Given the description of an element on the screen output the (x, y) to click on. 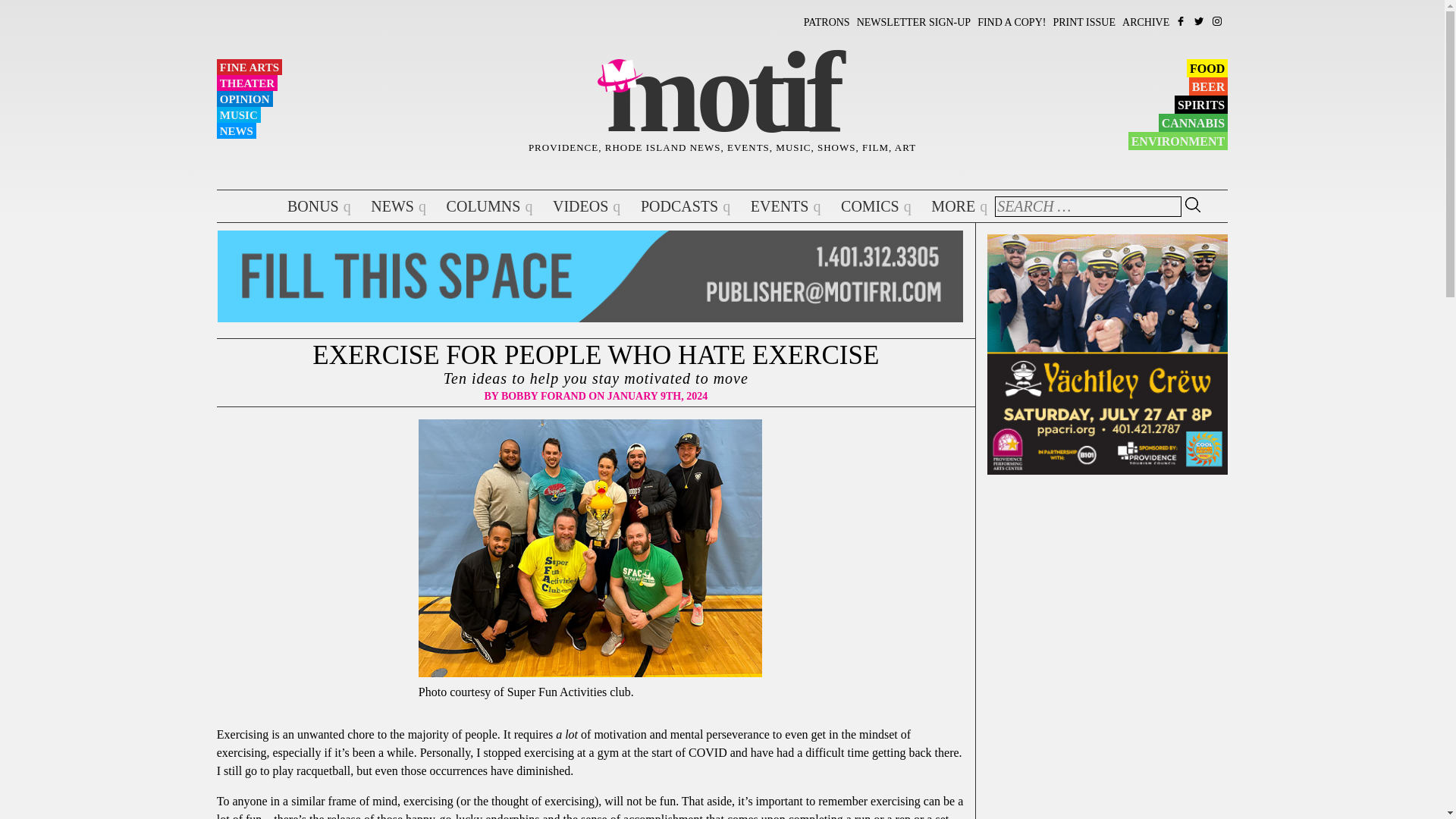
FINE ARTS (249, 66)
ENVIRONMENT (1178, 140)
CANNABIS (1193, 122)
OPINION (244, 98)
BONUS (306, 205)
NEWSLETTER SIGN-UP (914, 21)
FACEBOOK (1182, 20)
FIND A COPY! (1010, 21)
ARCHIVE (1145, 21)
INSTAGRAM (1218, 20)
Motif (721, 92)
THEATER (247, 82)
SPIRITS (1200, 104)
TWITTER (1199, 20)
FOOD (1206, 67)
